Given the description of an element on the screen output the (x, y) to click on. 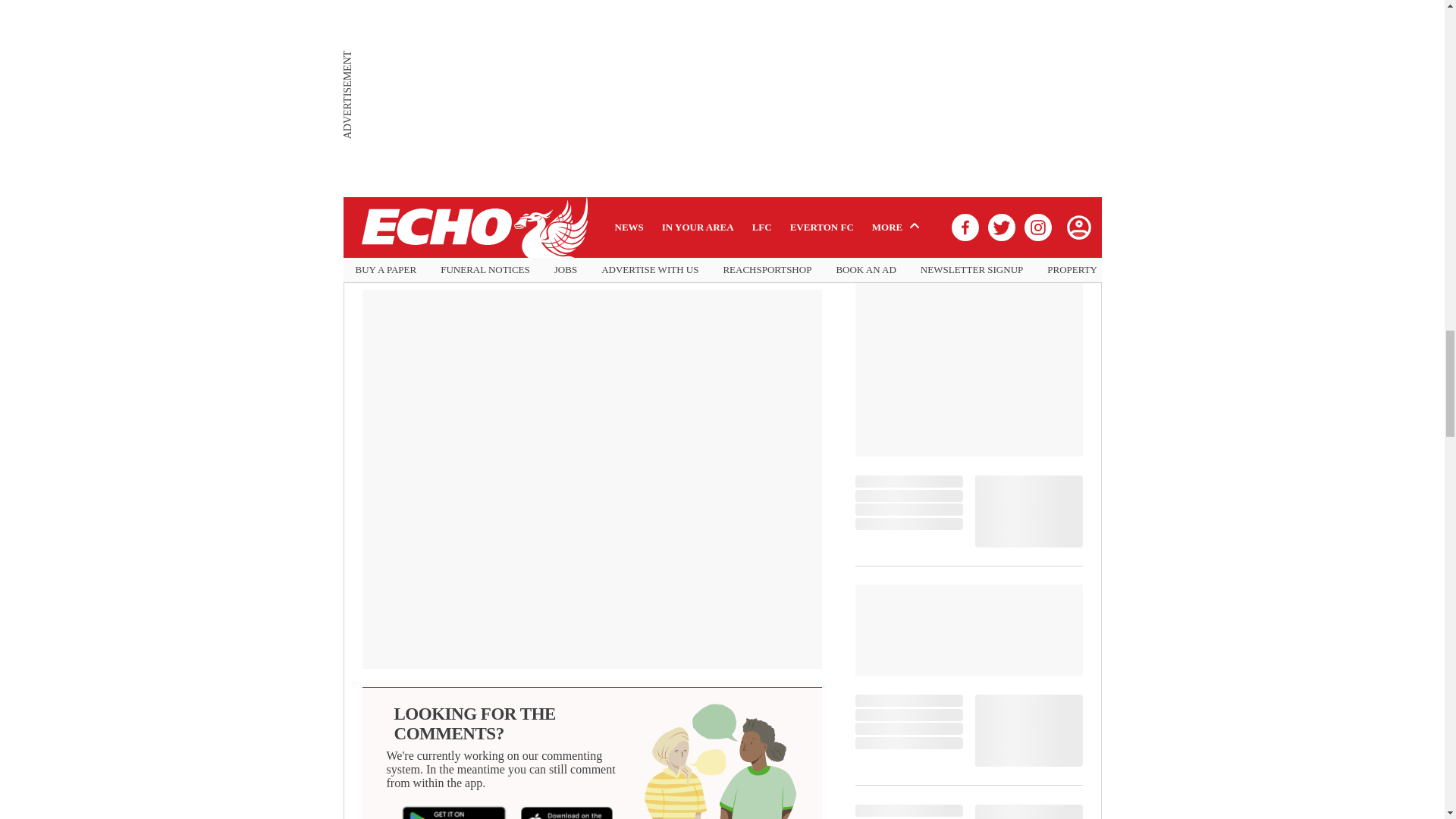
Twitter (533, 255)
What's On newsletter (509, 164)
Instagram (646, 255)
Facebook (421, 255)
